Given the description of an element on the screen output the (x, y) to click on. 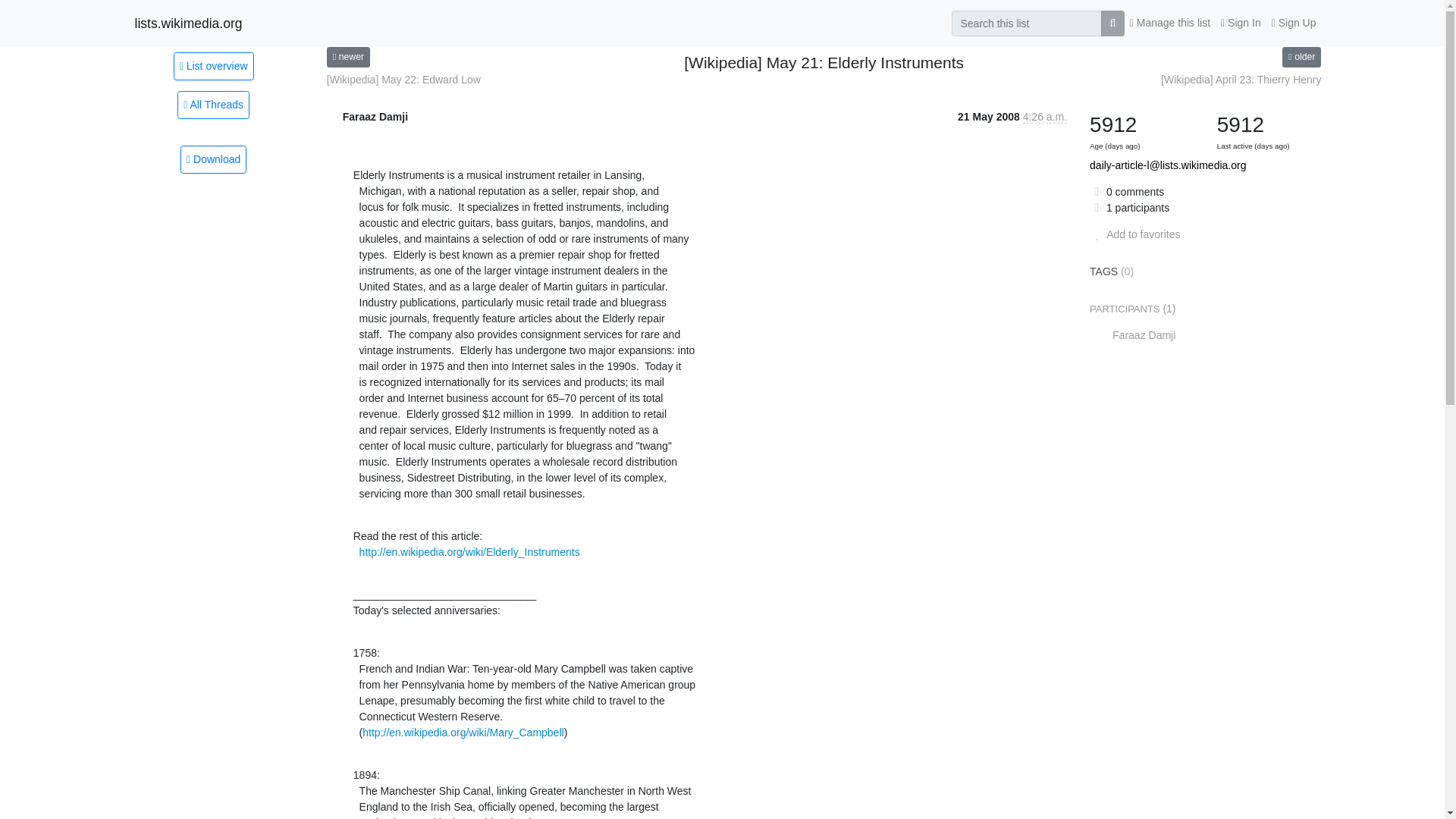
Sender's time: May 21, 2008, 12:26 a.m. (1045, 116)
Download (213, 159)
All Threads (212, 104)
This thread in gzipped mbox format (213, 159)
lists.wikimedia.org (189, 22)
Sign In (1240, 22)
older (1301, 56)
Sign Up (1294, 22)
You must be logged-in to have favorites. (1134, 234)
List overview (213, 65)
Manage this list (1169, 22)
newer (347, 56)
